Given the description of an element on the screen output the (x, y) to click on. 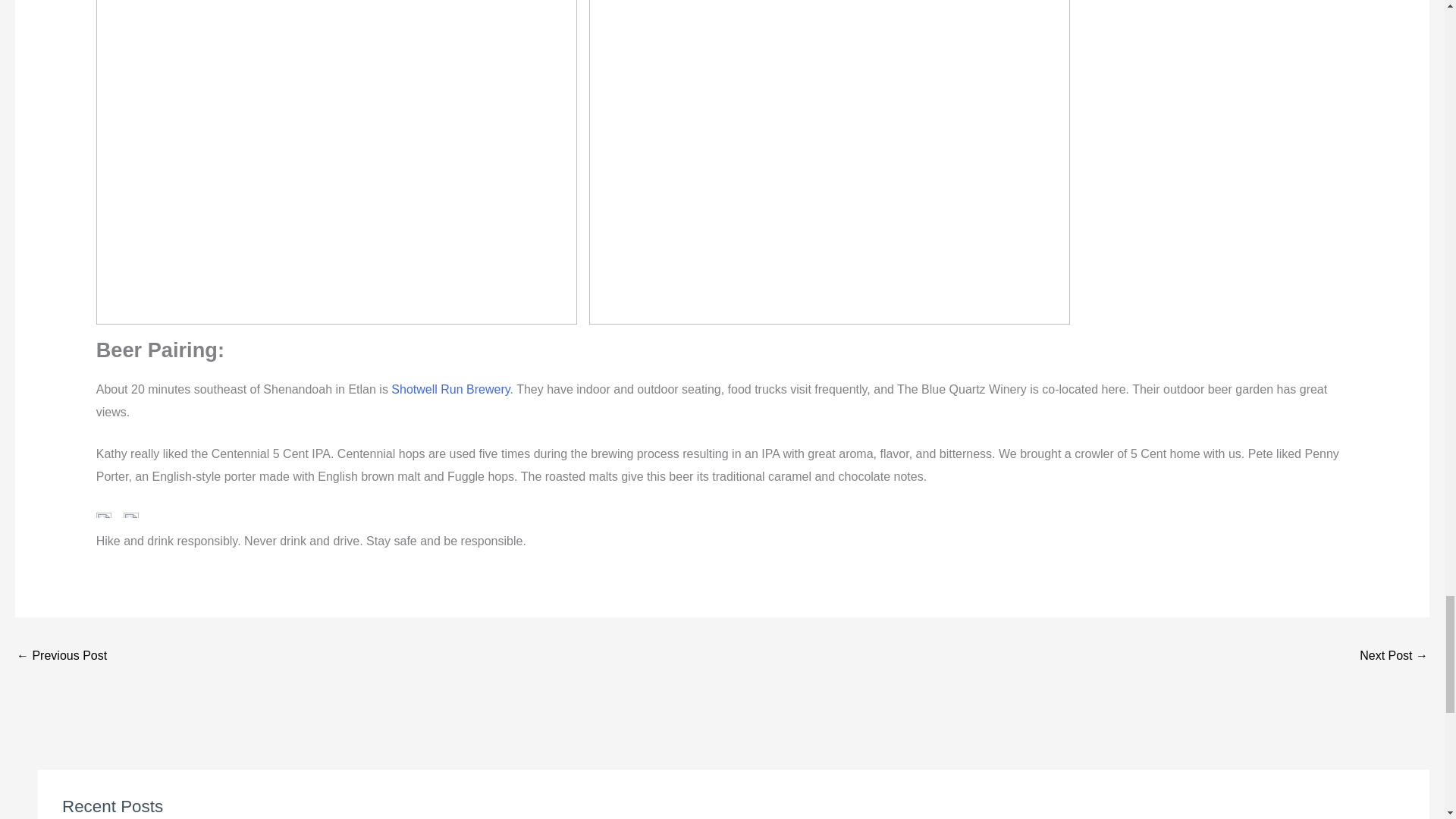
Shotwell Run Brewery (450, 389)
Robertson Mountain (1393, 656)
Rapidan Camp Loop (61, 656)
